Given the description of an element on the screen output the (x, y) to click on. 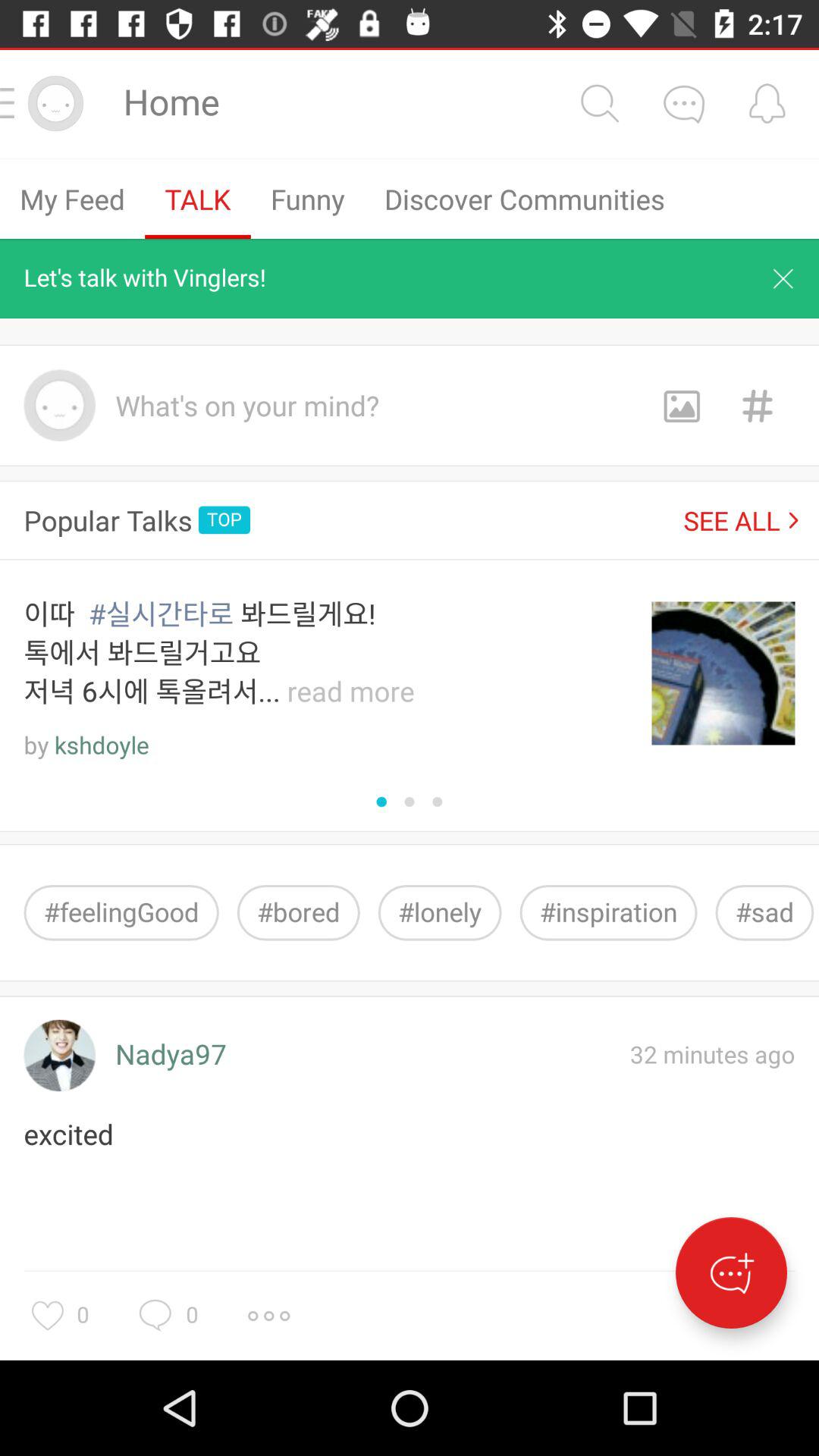
more information (268, 1315)
